Given the description of an element on the screen output the (x, y) to click on. 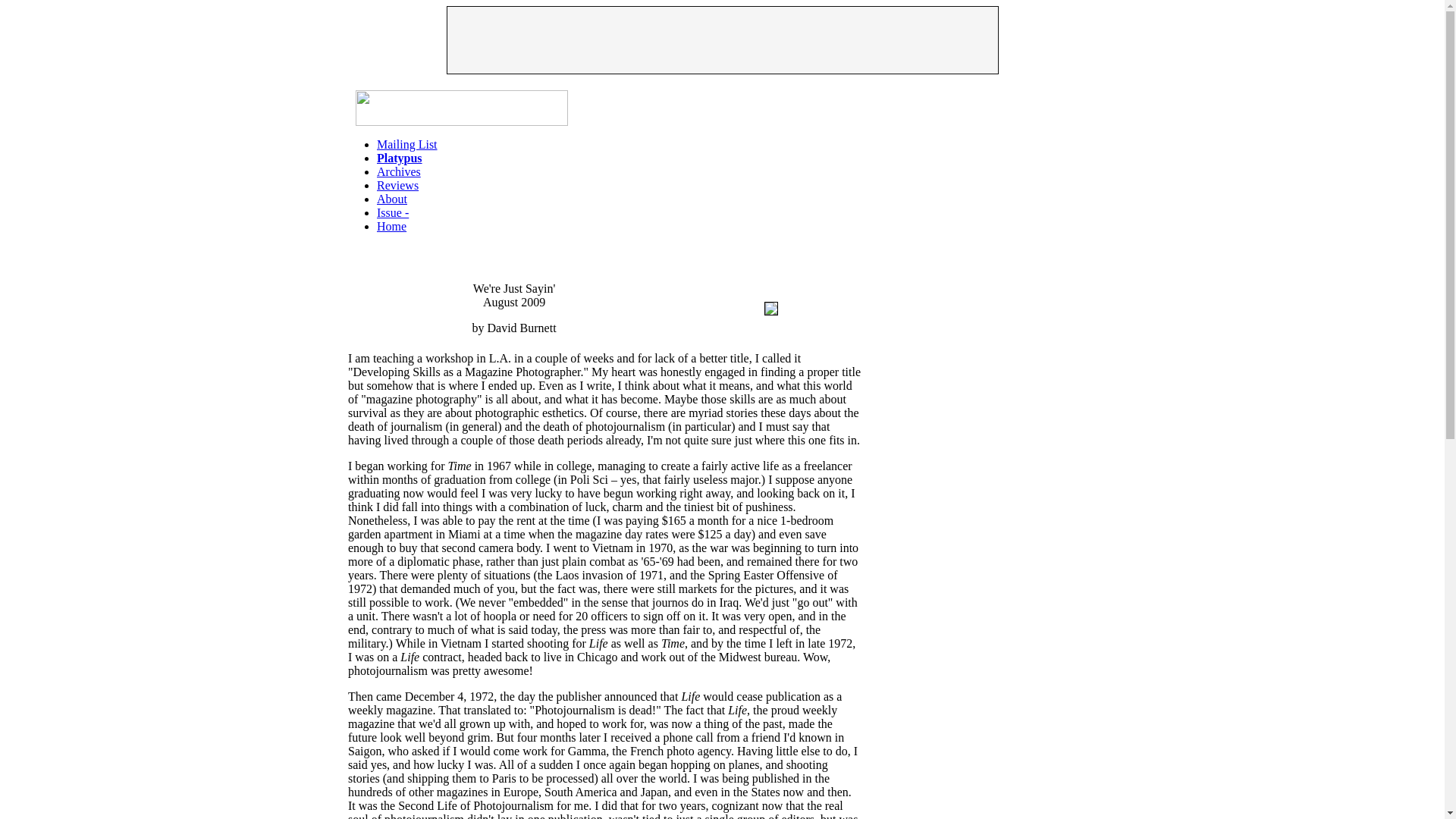
Issue - (393, 212)
Mailing List (407, 144)
Home (391, 226)
Archives (398, 171)
About (392, 198)
Platypus (399, 157)
Reviews (398, 185)
